Given the description of an element on the screen output the (x, y) to click on. 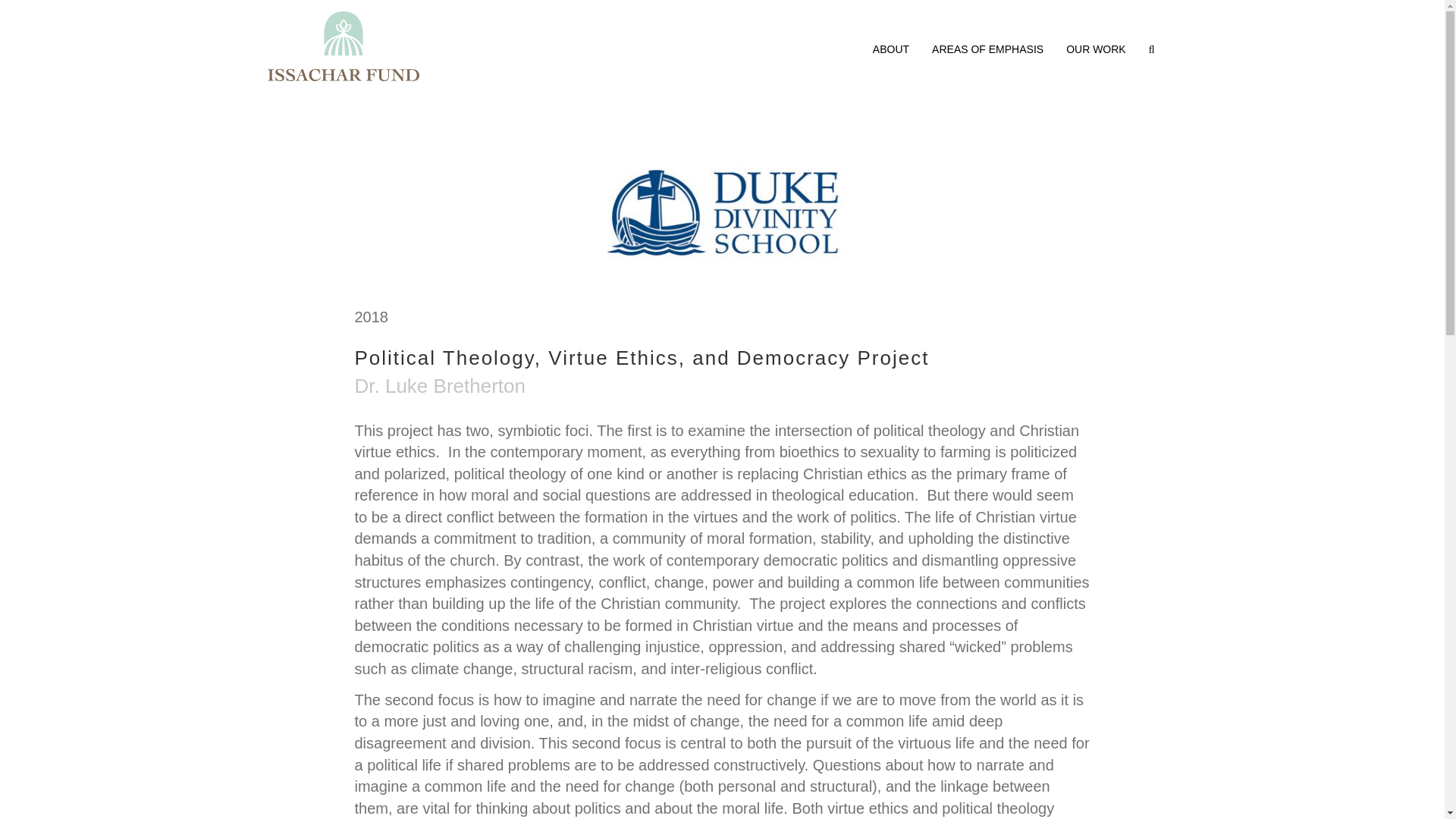
OUR WORK (1095, 48)
Issachar Fund (342, 46)
AREAS OF EMPHASIS (987, 48)
